Given the description of an element on the screen output the (x, y) to click on. 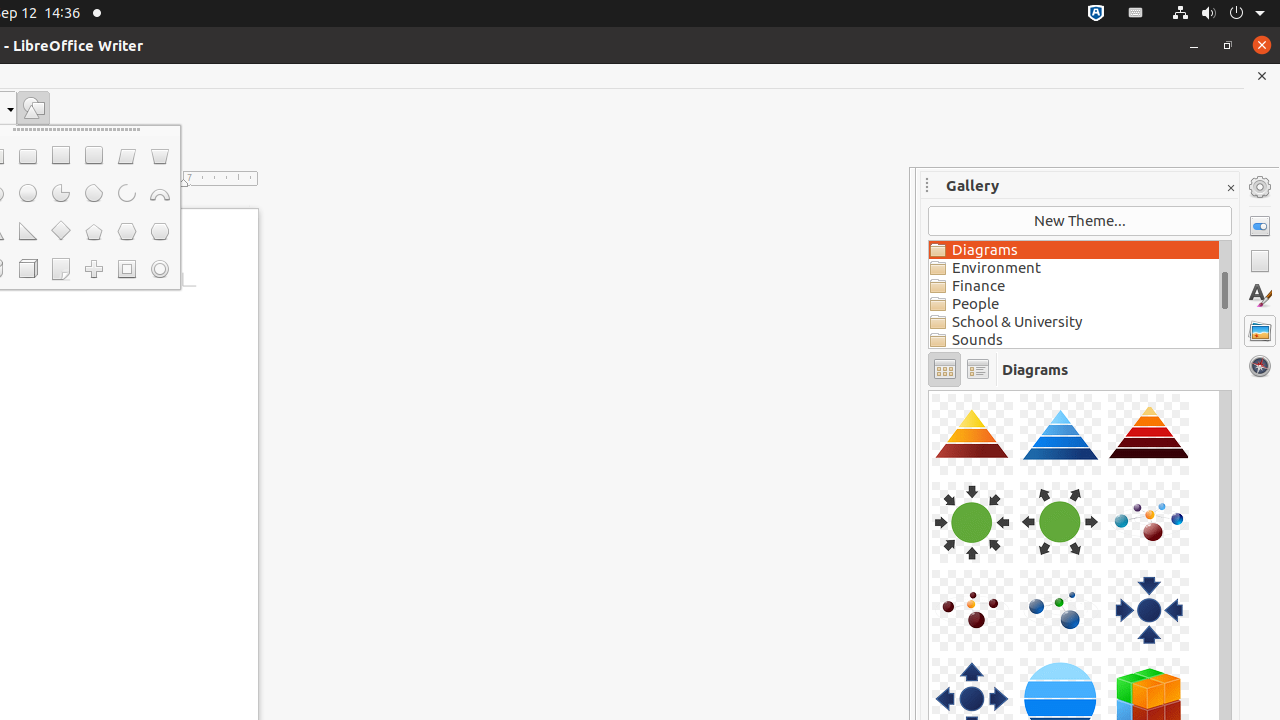
Component-PuzzlePiece01-DarkBlue Element type: list-item (929, 390)
Component-Cube03-Green Element type: list-item (929, 390)
Component-PuzzlePiece02-Blue Element type: list-item (929, 390)
Component-Person04-DarkRed Element type: list-item (929, 390)
Component-Cuboid04-Orange Element type: list-item (929, 390)
